Given the description of an element on the screen output the (x, y) to click on. 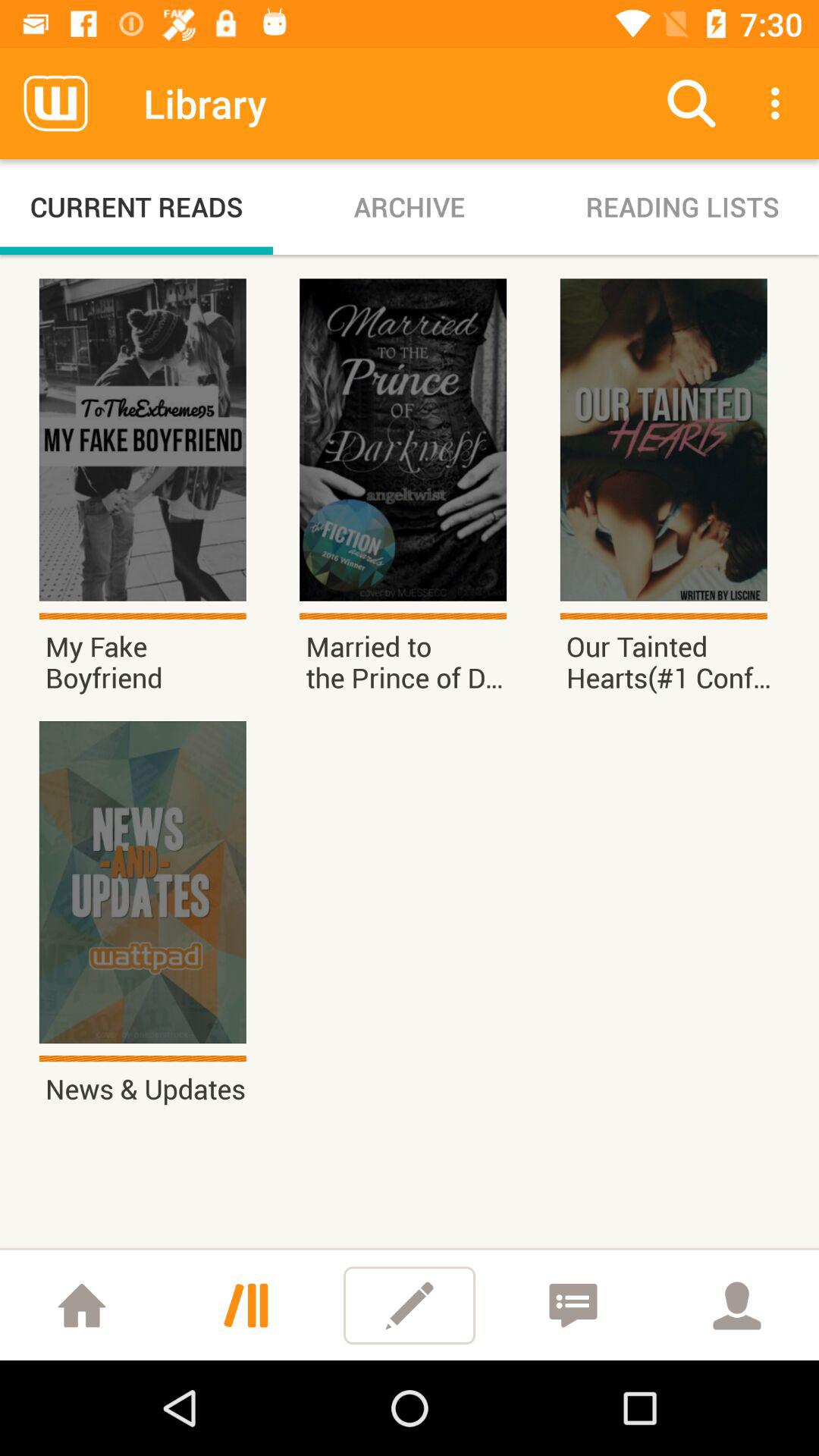
tap item next to the reading lists icon (409, 206)
